Given the description of an element on the screen output the (x, y) to click on. 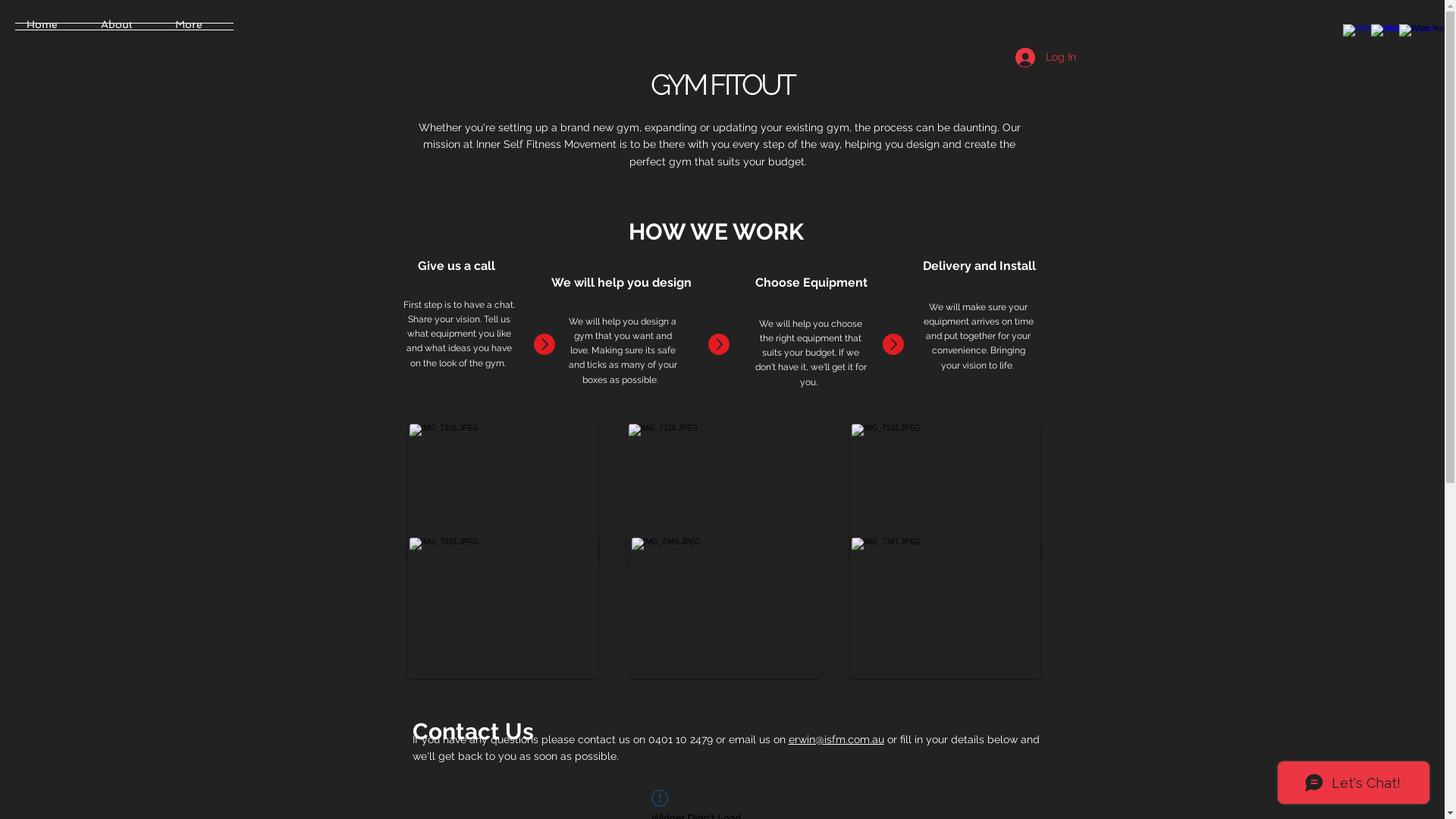
Home Element type: text (52, 26)
About Element type: text (126, 26)
erwin@isfm.com.au Element type: text (836, 739)
Log In Element type: text (1044, 57)
